Given the description of an element on the screen output the (x, y) to click on. 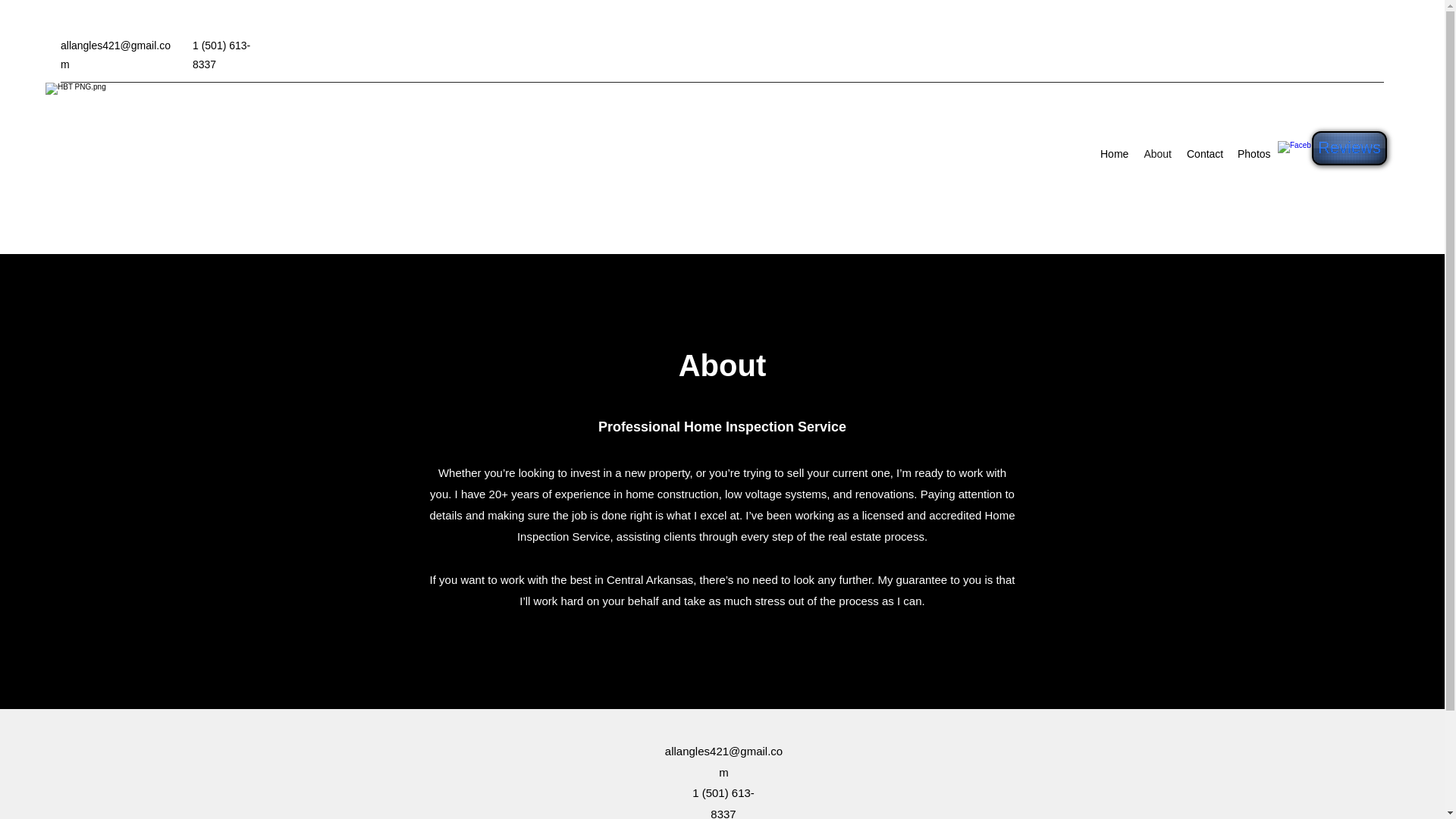
About (1157, 153)
Reviews (1349, 148)
Contact (1204, 153)
Photos (1254, 153)
Home (1114, 153)
